Given the description of an element on the screen output the (x, y) to click on. 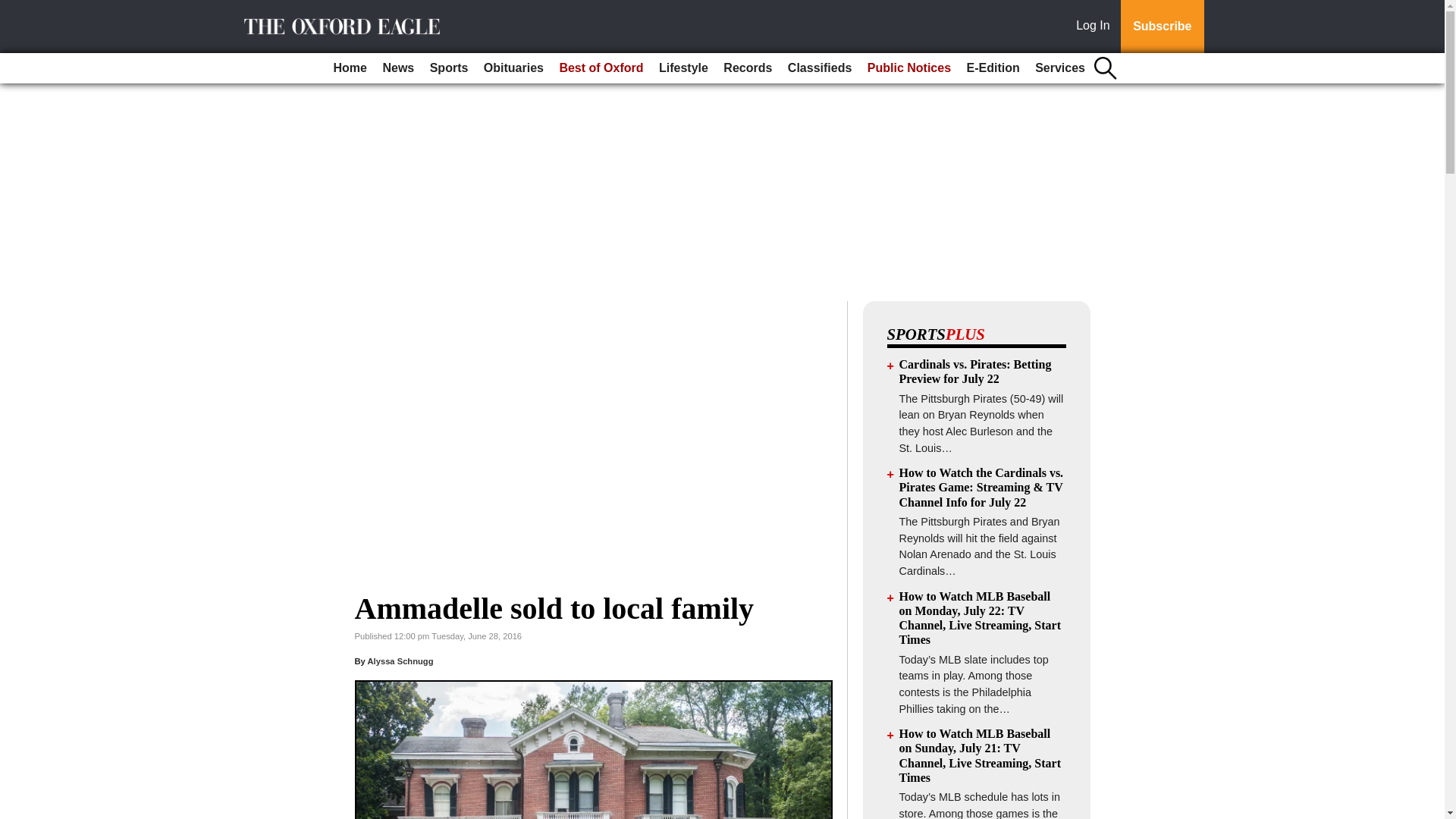
Cardinals vs. Pirates: Betting Preview for July 22 (975, 370)
Records (747, 68)
Lifestyle (683, 68)
Subscribe (1162, 26)
Obituaries (513, 68)
Home (349, 68)
Go (13, 9)
Best of Oxford (601, 68)
Services (1059, 68)
E-Edition (992, 68)
Classifieds (819, 68)
News (397, 68)
Sports (448, 68)
